Given the description of an element on the screen output the (x, y) to click on. 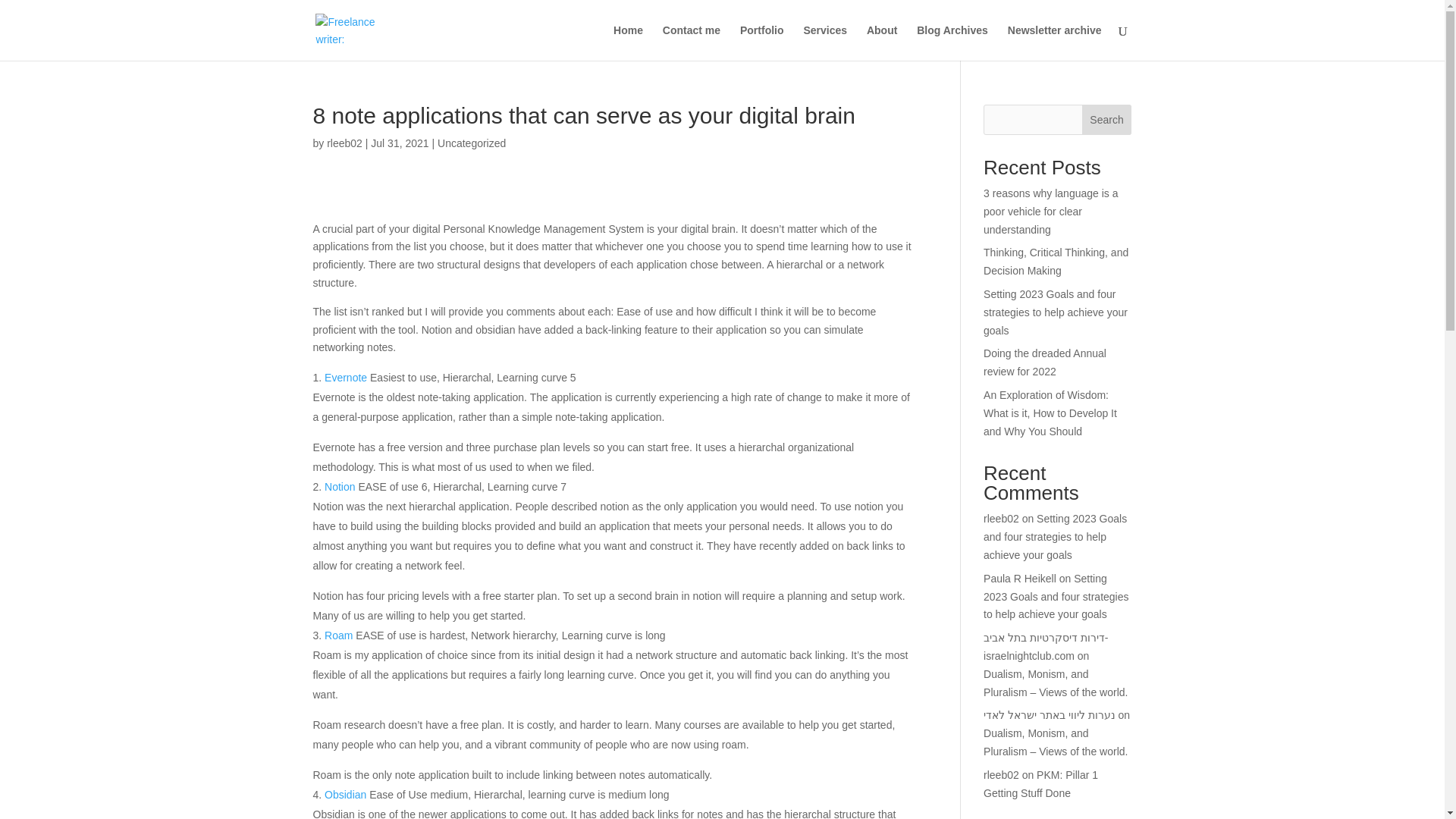
rleeb02 (1001, 775)
Paula R Heikell (1020, 578)
Blog Archives (952, 42)
Home (627, 42)
Uncategorized (471, 143)
Services (825, 42)
Portfolio (761, 42)
Search (1106, 119)
Evernote (345, 377)
Doing the dreaded Annual review for 2022 (1045, 362)
Roam (338, 635)
rleeb02 (344, 143)
Notion (339, 486)
